Given the description of an element on the screen output the (x, y) to click on. 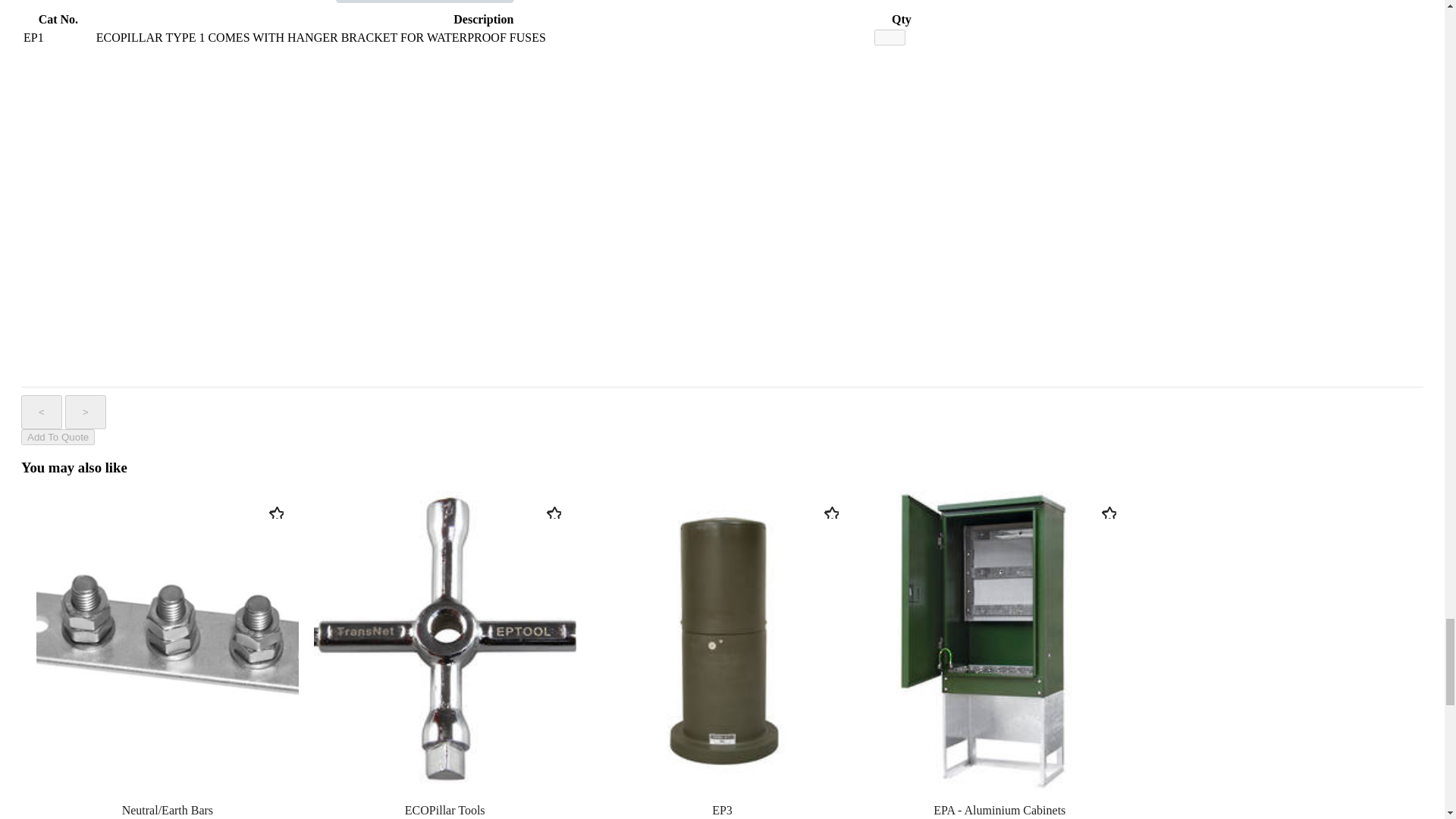
Add To Quote (57, 437)
